Given the description of an element on the screen output the (x, y) to click on. 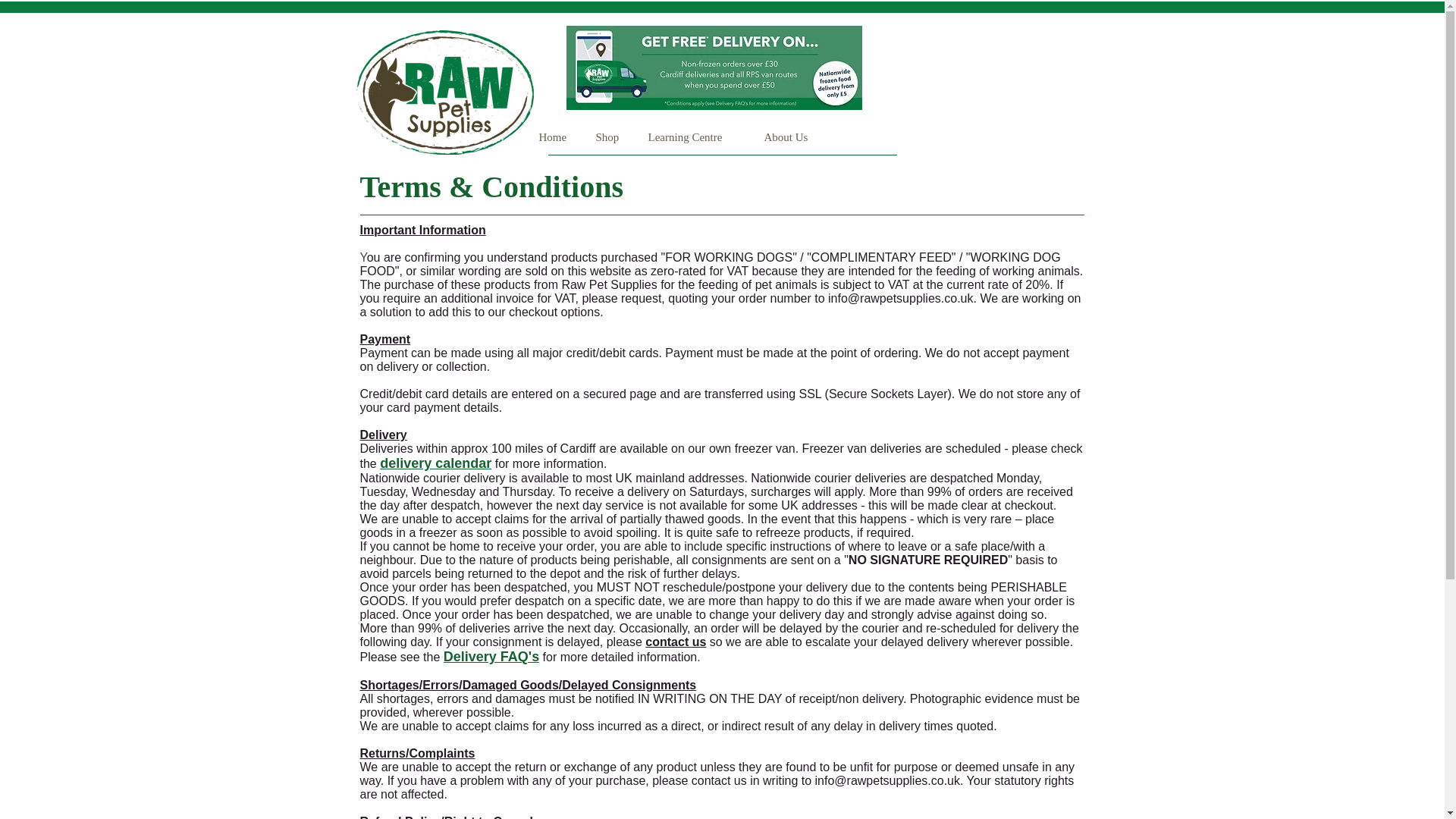
contact us (675, 641)
Help Centre (872, 137)
Shop (609, 137)
About Us (789, 137)
delivery calendar (436, 463)
Learning Centre (692, 137)
Delivery FAQ's (491, 656)
Home (554, 137)
5.png (445, 92)
